Given the description of an element on the screen output the (x, y) to click on. 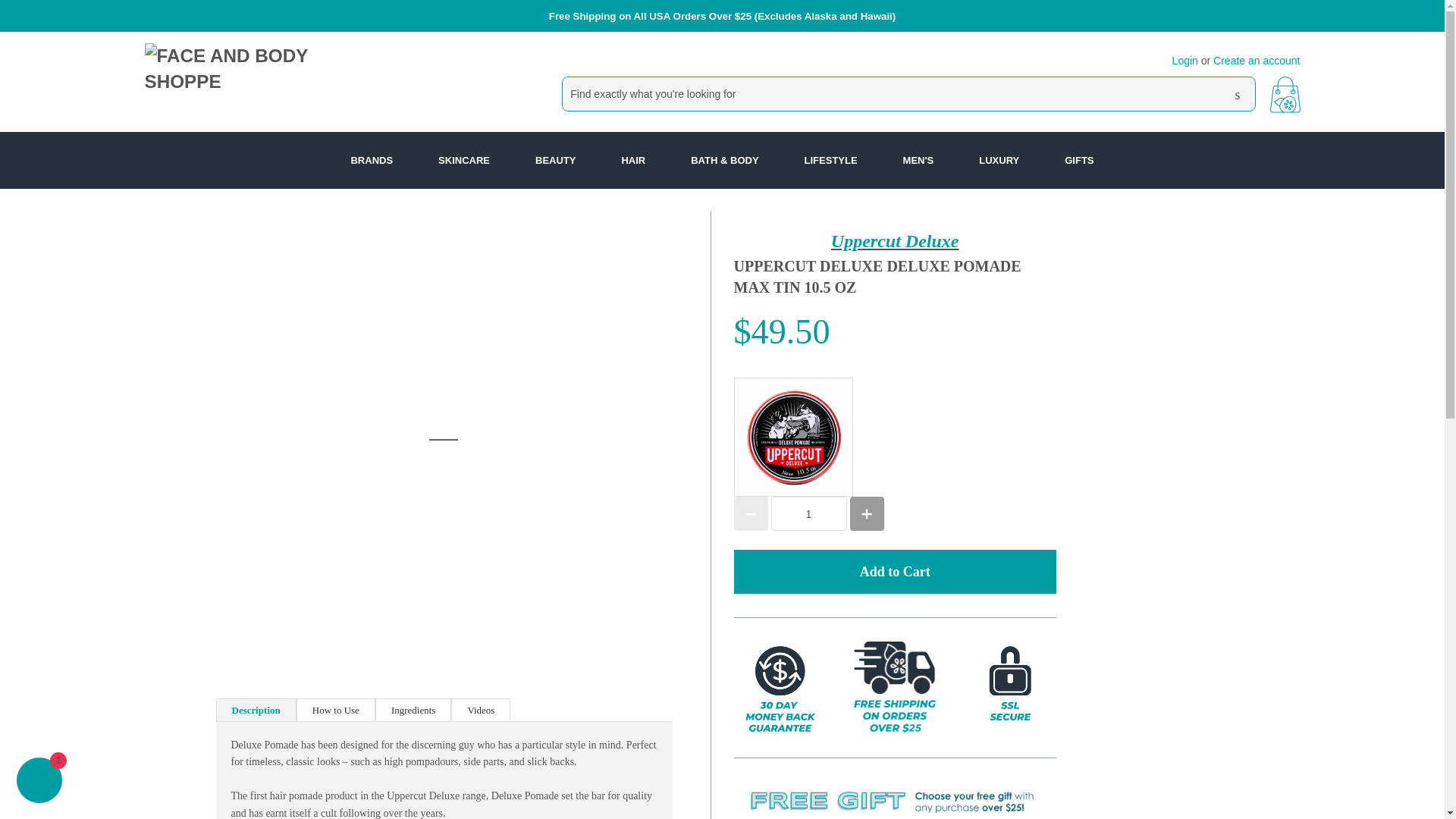
1 (807, 513)
Login (1185, 60)
Create an account (1256, 60)
Search (1238, 94)
